Given the description of an element on the screen output the (x, y) to click on. 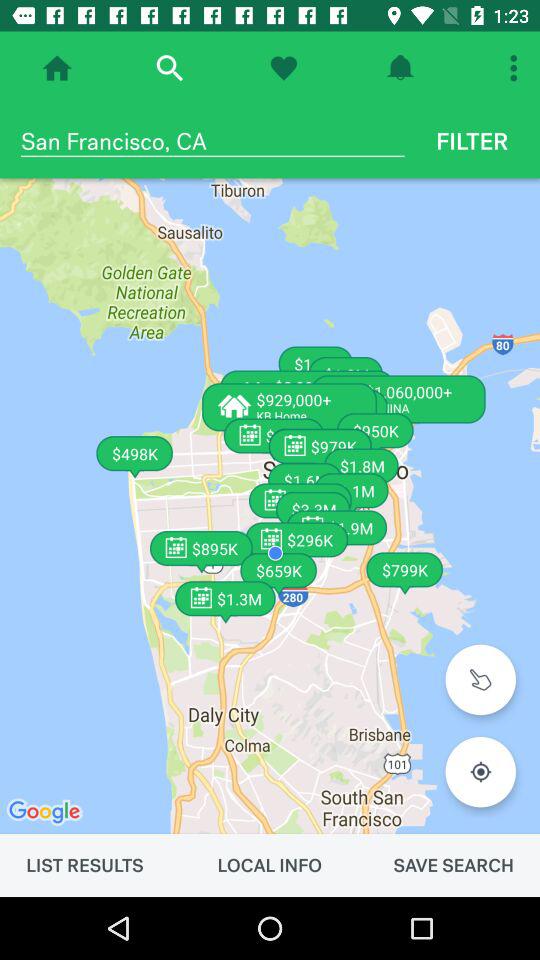
jump until the san francisco, ca icon (212, 141)
